Given the description of an element on the screen output the (x, y) to click on. 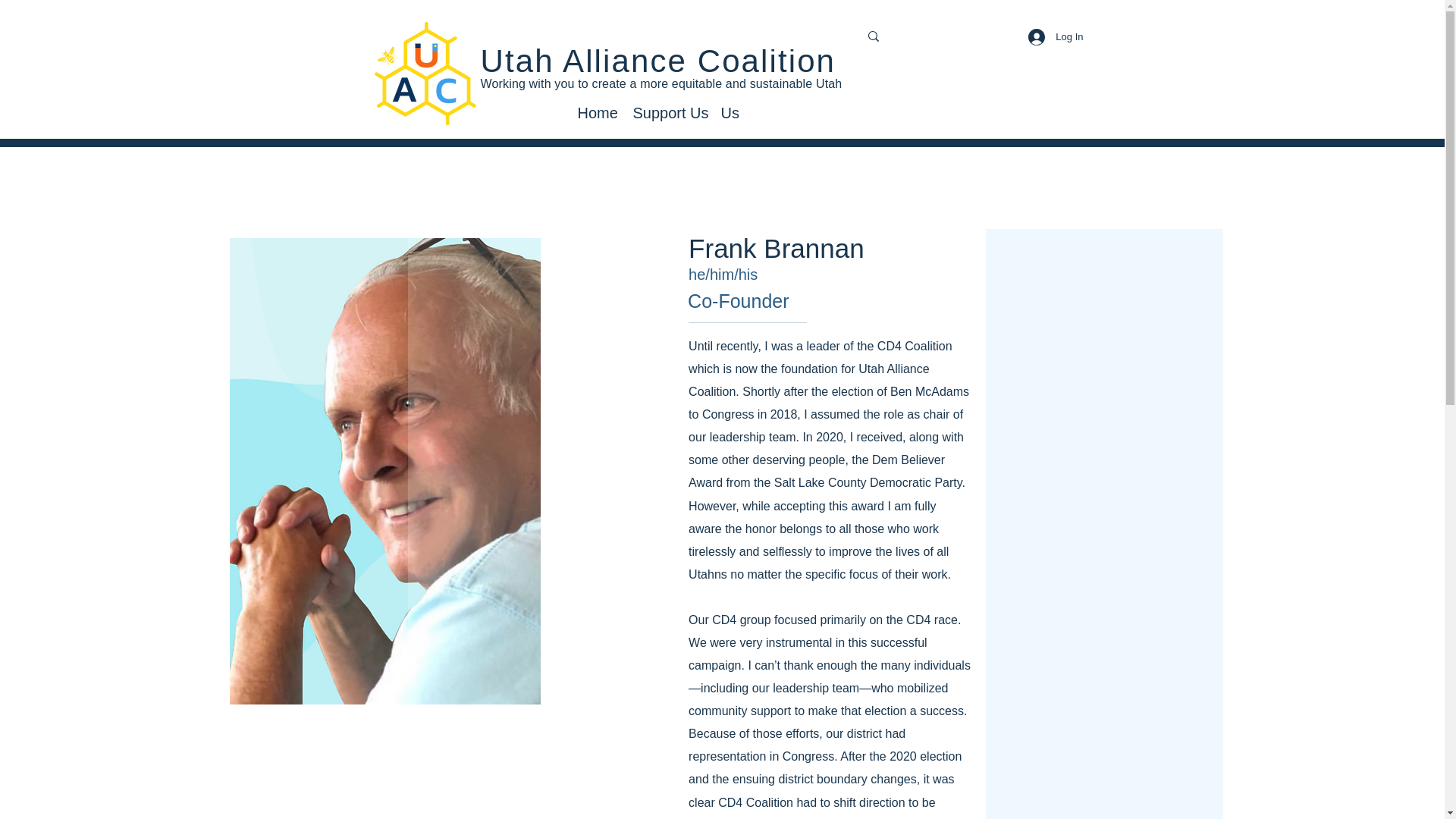
Home (598, 111)
Us (729, 111)
Log In (1055, 36)
